Given the description of an element on the screen output the (x, y) to click on. 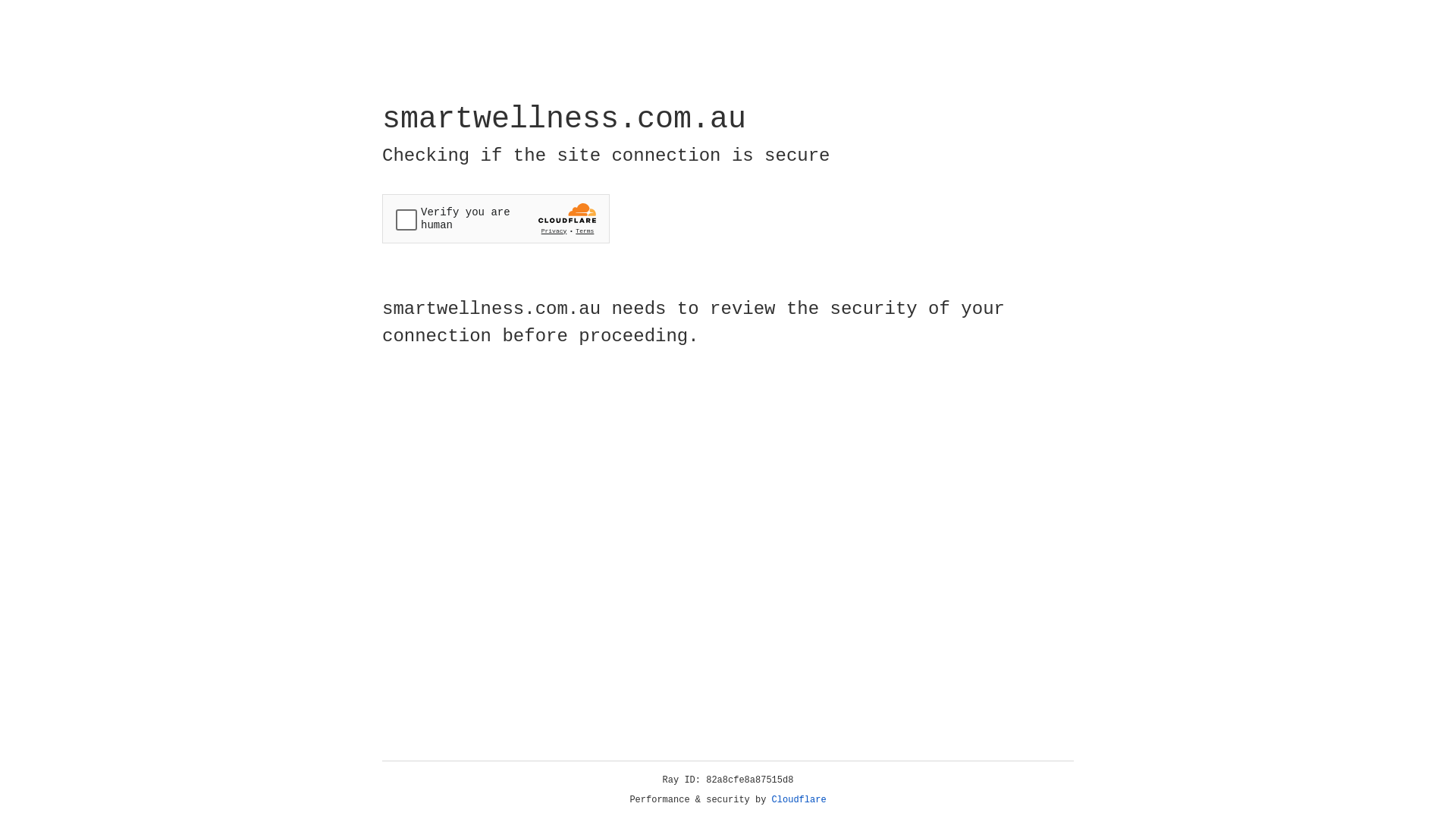
Cloudflare Element type: text (798, 799)
Widget containing a Cloudflare security challenge Element type: hover (495, 218)
